Given the description of an element on the screen output the (x, y) to click on. 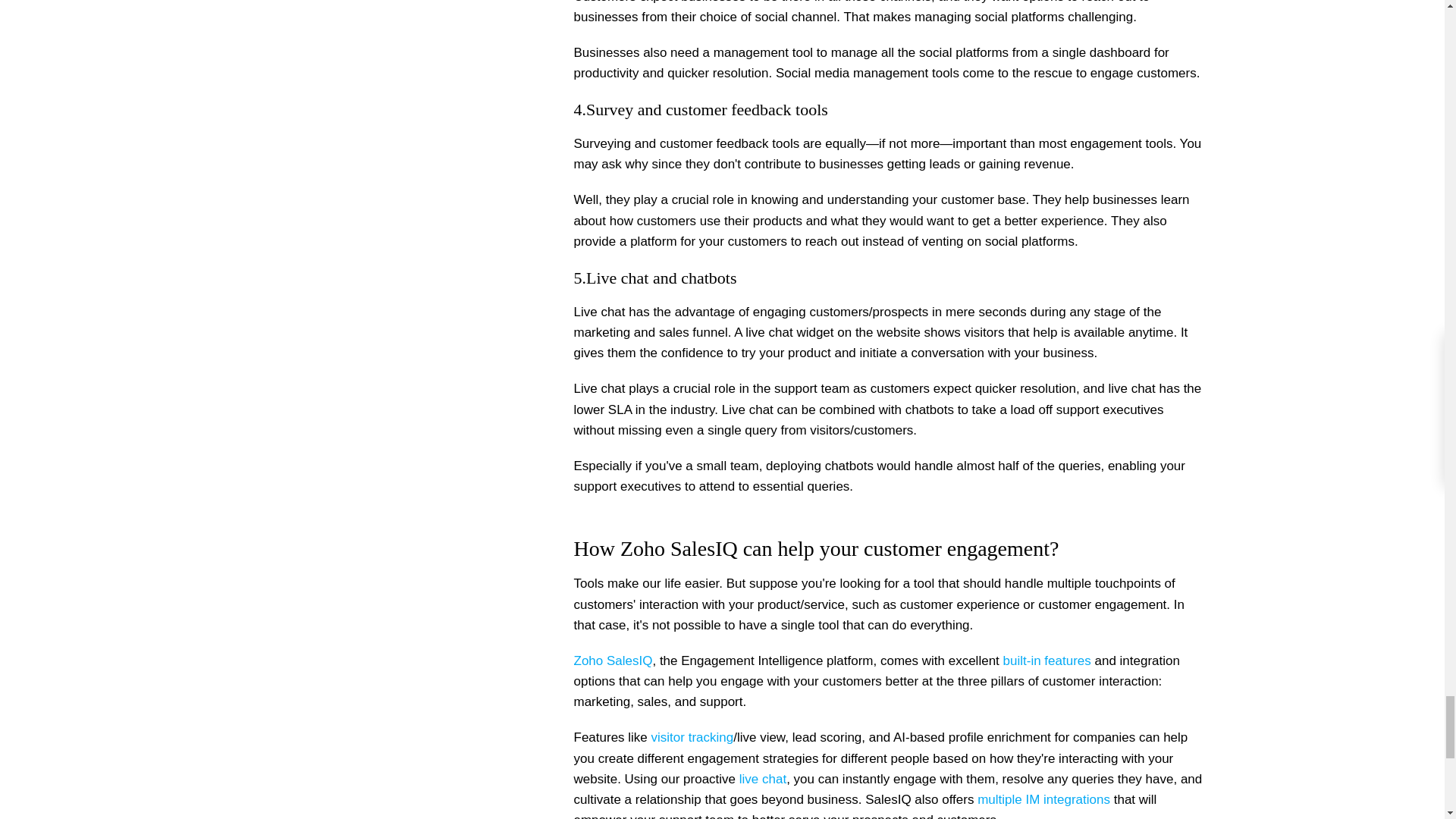
live chat (762, 779)
built-in features (1048, 660)
Zoho SalesIQ (612, 660)
multiple IM integrations (1044, 799)
visitor tracking (691, 737)
